Given the description of an element on the screen output the (x, y) to click on. 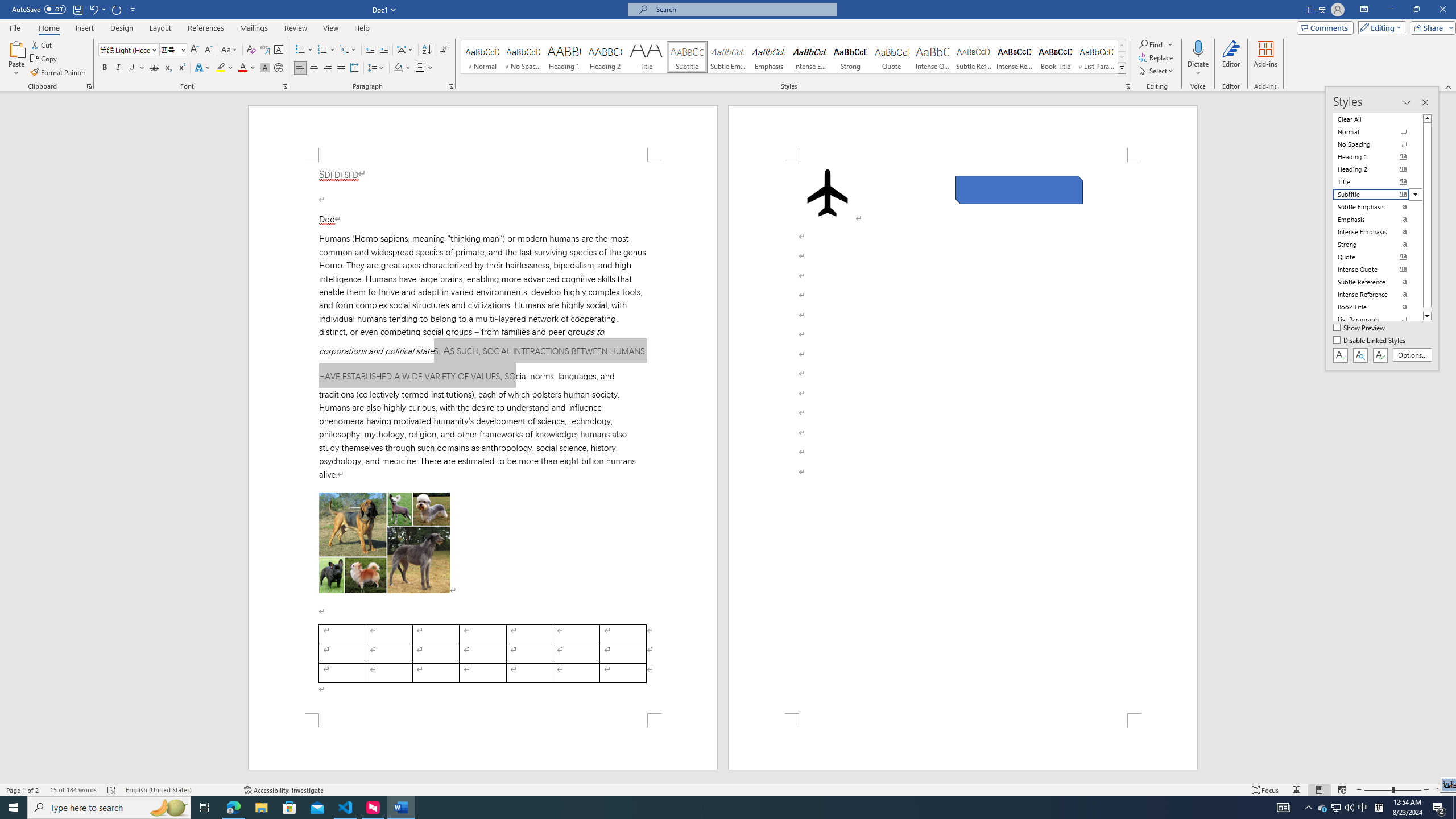
Show Preview (1360, 328)
Subtle Emphasis (727, 56)
Quote (891, 56)
AutoSave (38, 9)
Center (313, 67)
Grow Font (193, 49)
Show/Hide Editing Marks (444, 49)
Character Shading (264, 67)
File Tab (15, 27)
Format Painter (58, 72)
System (6, 6)
Save (77, 9)
Cut (42, 44)
Underline (131, 67)
